Given the description of an element on the screen output the (x, y) to click on. 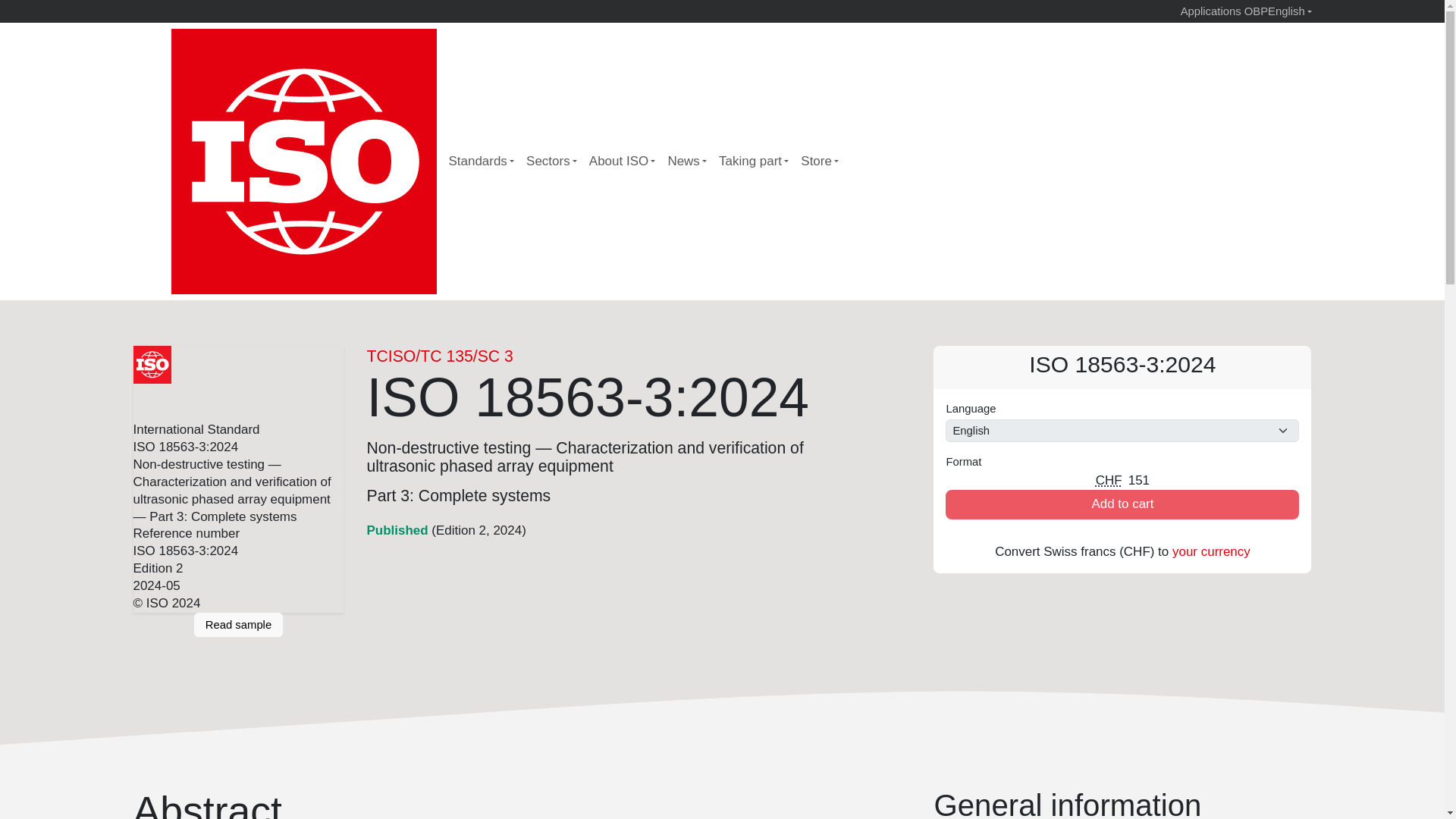
English (1289, 11)
Standards (481, 161)
Shopping cart (1077, 161)
Taking part (753, 161)
your currency (1211, 551)
Swiss francs (1109, 480)
Store (819, 161)
Online Browsing Platform (1254, 11)
Add to cart (1121, 504)
